Given the description of an element on the screen output the (x, y) to click on. 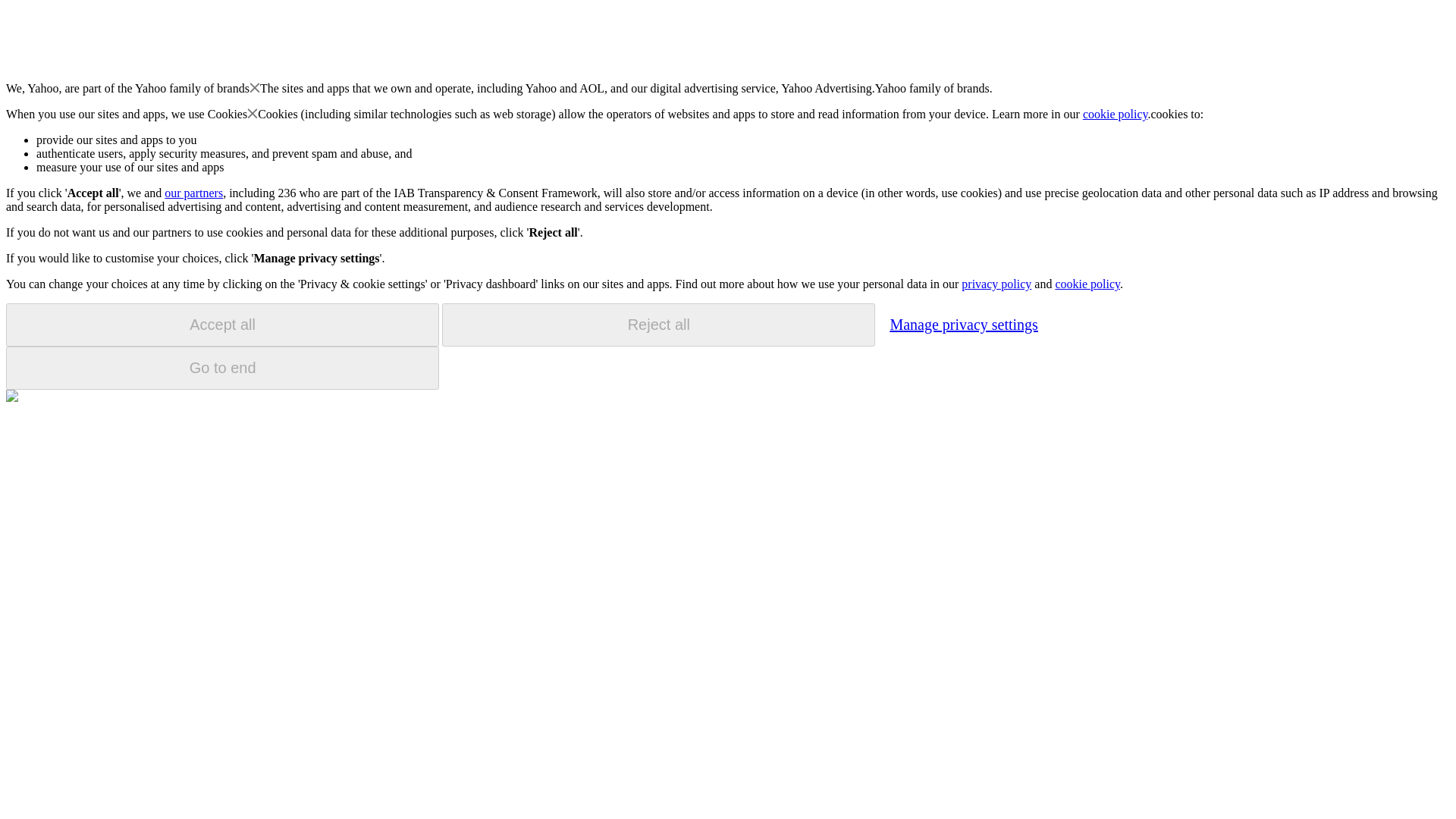
cookie policy (1115, 113)
privacy policy (995, 283)
Reject all (658, 324)
Go to end (222, 367)
Manage privacy settings (963, 323)
cookie policy (1086, 283)
our partners (193, 192)
Accept all (222, 324)
